Given the description of an element on the screen output the (x, y) to click on. 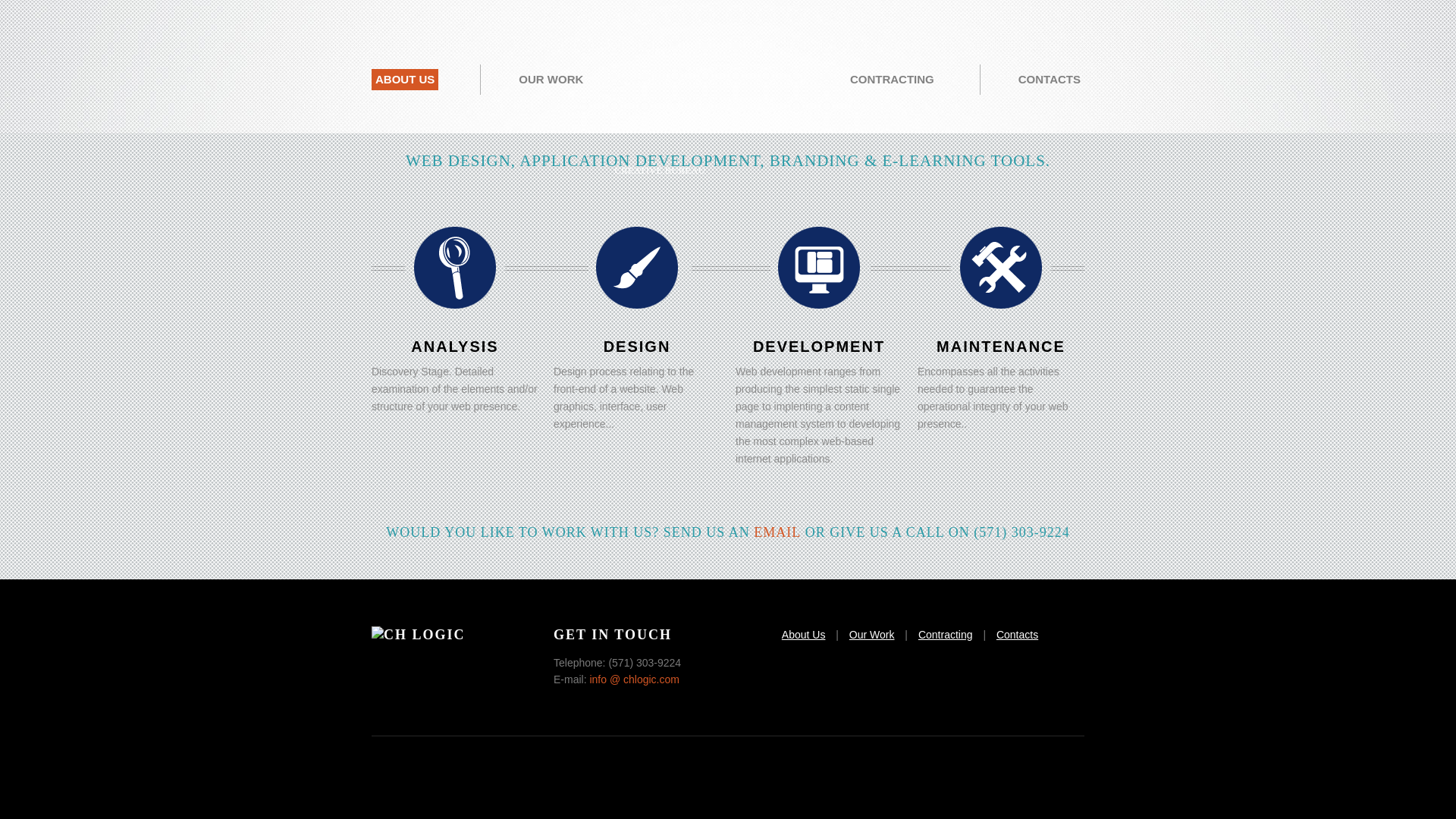
Our Work (871, 634)
EMAIL (777, 531)
Contacts (1016, 634)
About Us (803, 634)
CONTACTS (1049, 79)
ABOUT US (404, 79)
OUR WORK (550, 79)
CONTRACTING (891, 79)
Contracting (945, 634)
